Given the description of an element on the screen output the (x, y) to click on. 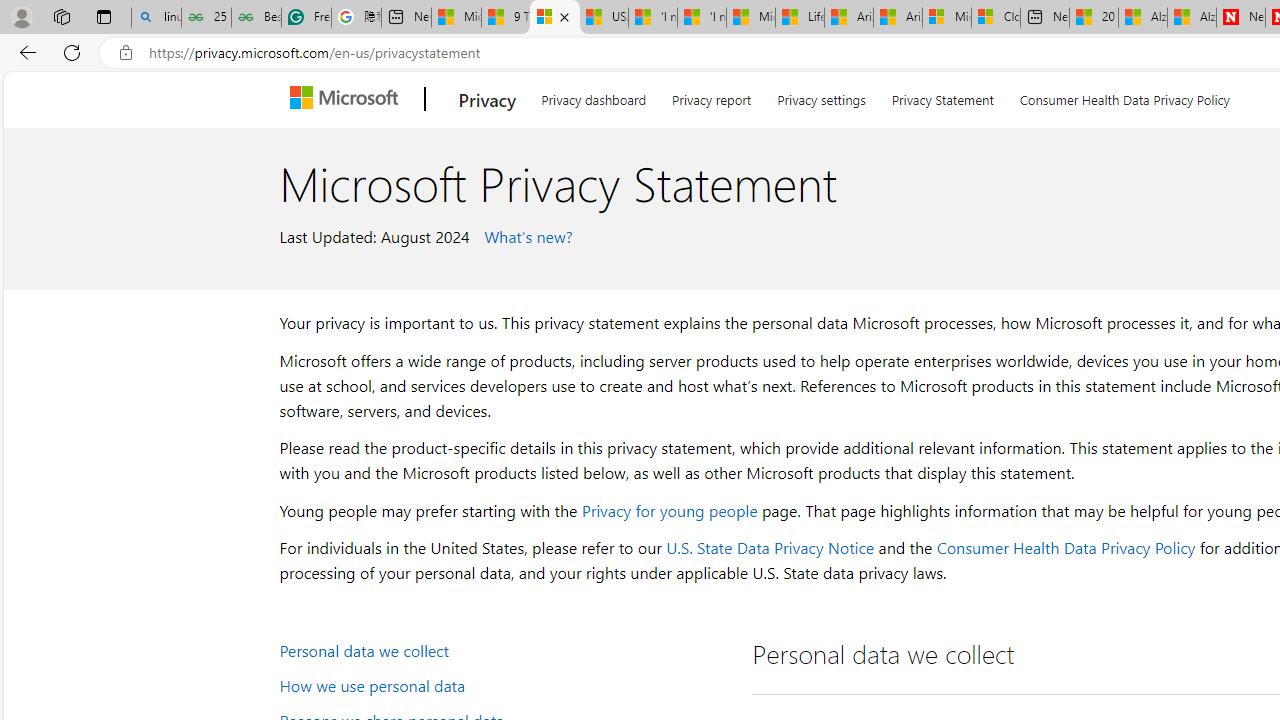
Privacy report (712, 96)
Personal data we collect (504, 650)
Privacy settings (821, 96)
20 Ways to Boost Your Protein Intake at Every Meal (1093, 17)
linux basic - Search (155, 17)
Privacy settings (821, 96)
Privacy Statement (942, 96)
